Given the description of an element on the screen output the (x, y) to click on. 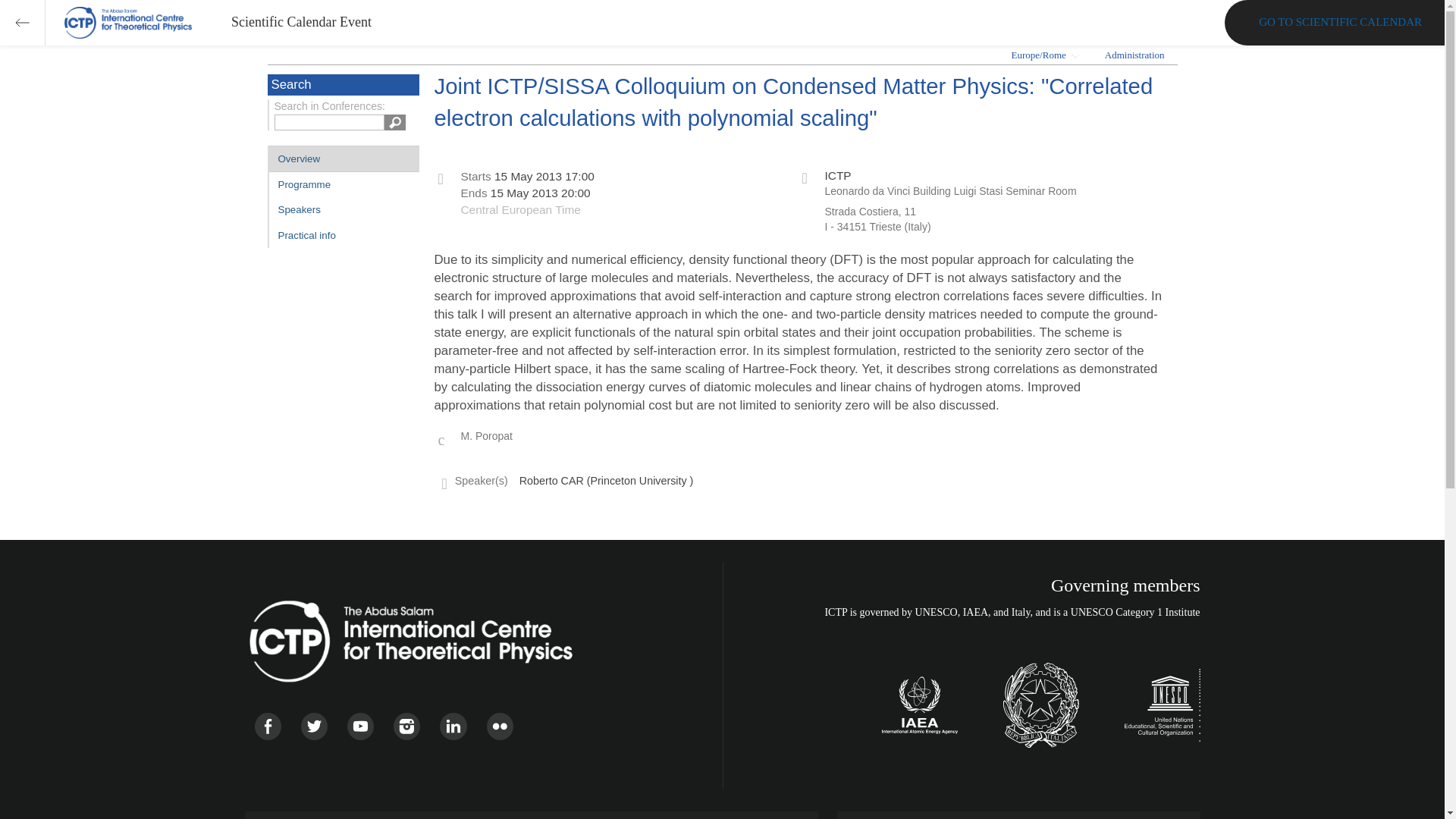
Flickr (499, 725)
Overview (343, 158)
Practical info (343, 235)
Linkedin (452, 725)
Youtube (360, 725)
Facebook (267, 725)
Administration (1134, 54)
Twitter (314, 725)
Programme (343, 184)
Speakers (343, 209)
Instagram (406, 725)
